Given the description of an element on the screen output the (x, y) to click on. 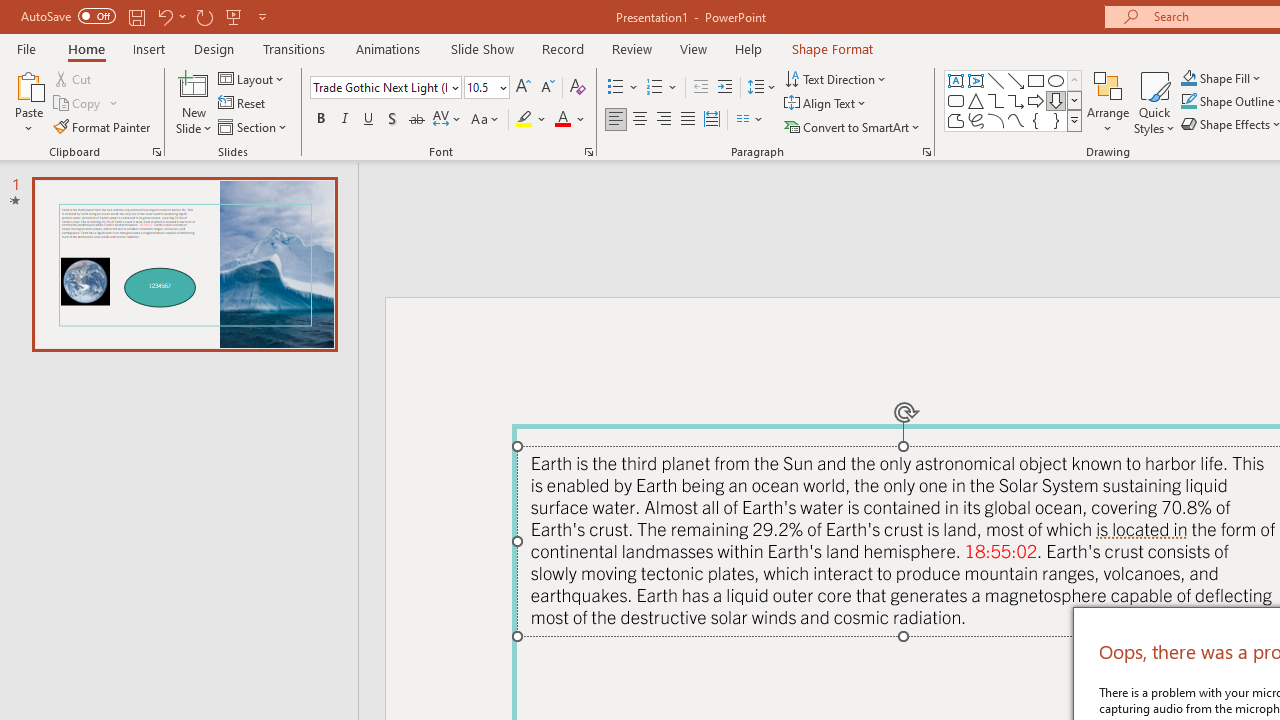
Increase Indent (725, 87)
Rectangle: Rounded Corners (955, 100)
System (10, 11)
Bold (320, 119)
Underline (369, 119)
Line Arrow (1016, 80)
Oval (1055, 80)
Help (748, 48)
Section (254, 126)
Transitions (294, 48)
Save (136, 15)
Animations (388, 48)
Numbering (654, 87)
View (693, 48)
Paste (28, 102)
